Given the description of an element on the screen output the (x, y) to click on. 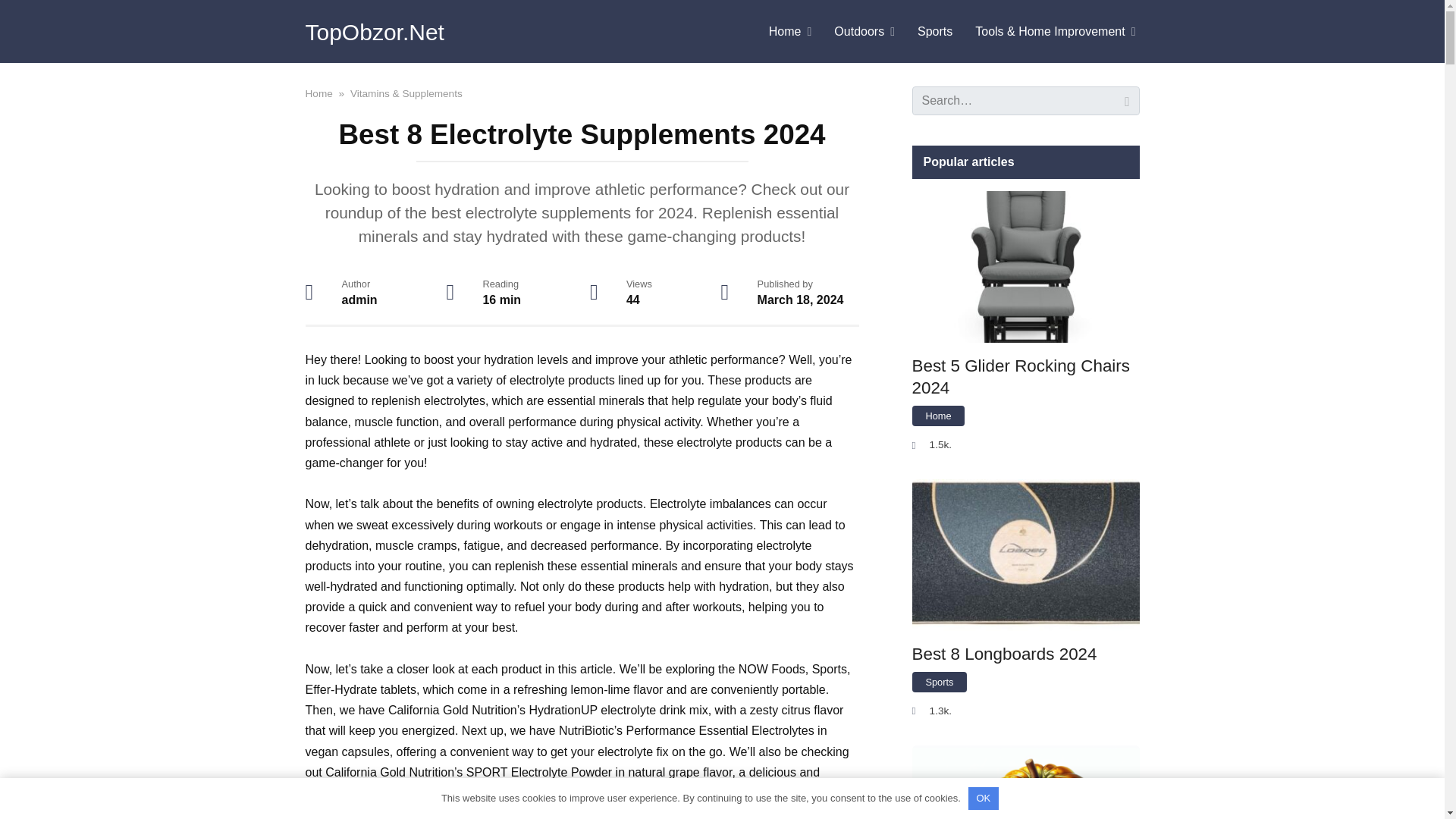
Outdoors (863, 31)
Home (790, 31)
Home (317, 93)
TopObzor.Net (374, 32)
Sports (934, 31)
